Given the description of an element on the screen output the (x, y) to click on. 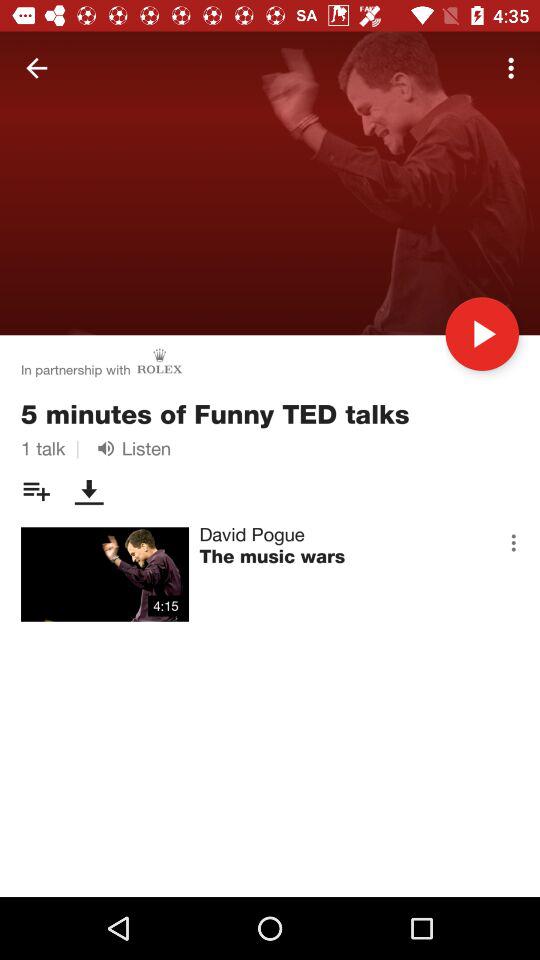
jump to listen (130, 448)
